Given the description of an element on the screen output the (x, y) to click on. 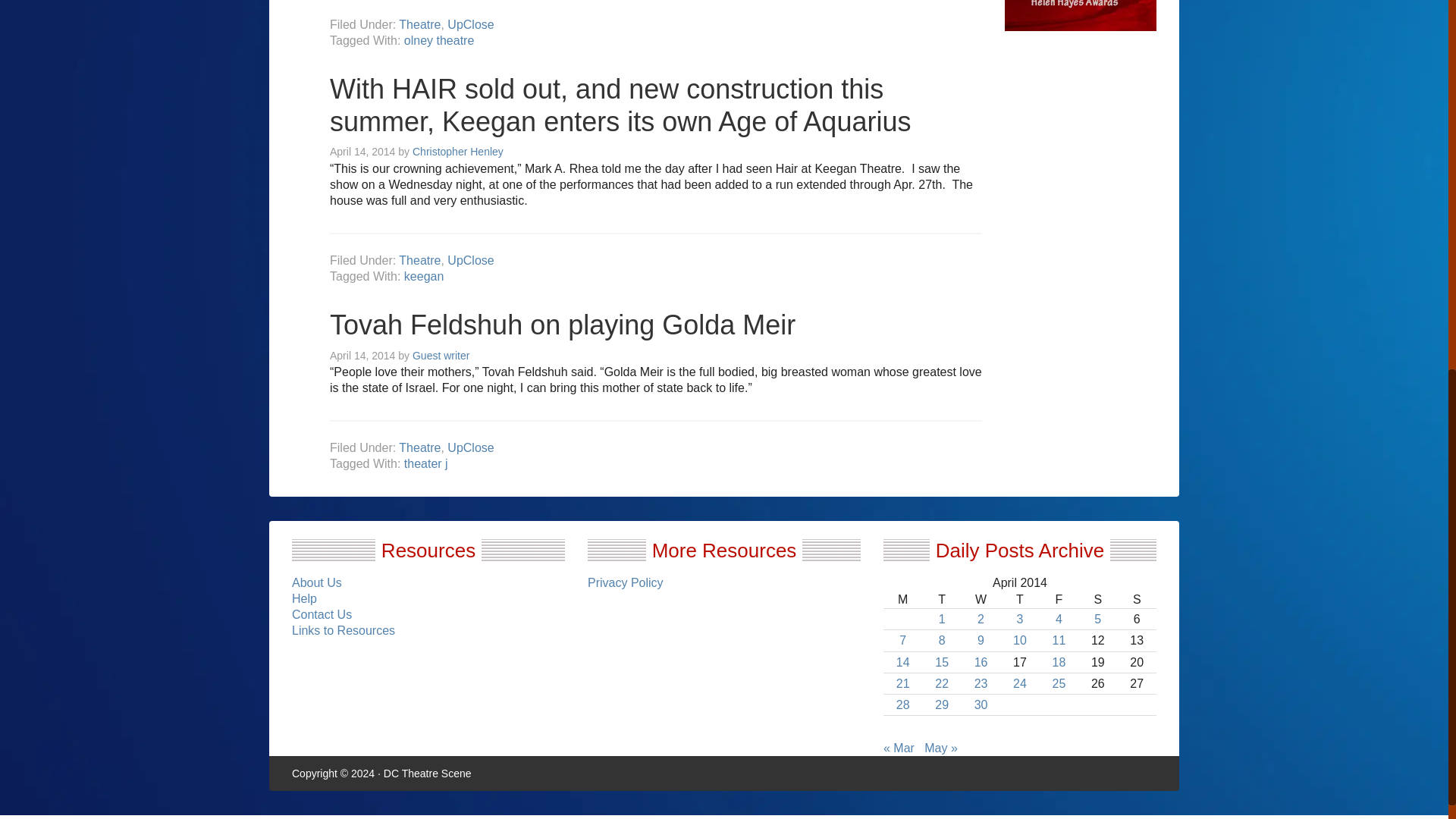
Wednesday (980, 599)
Friday (1058, 599)
olney theatre (439, 40)
Monday (902, 599)
Saturday (1097, 599)
Thursday (1019, 599)
UpClose (469, 24)
Sunday (1137, 599)
Theatre (419, 24)
